Given the description of an element on the screen output the (x, y) to click on. 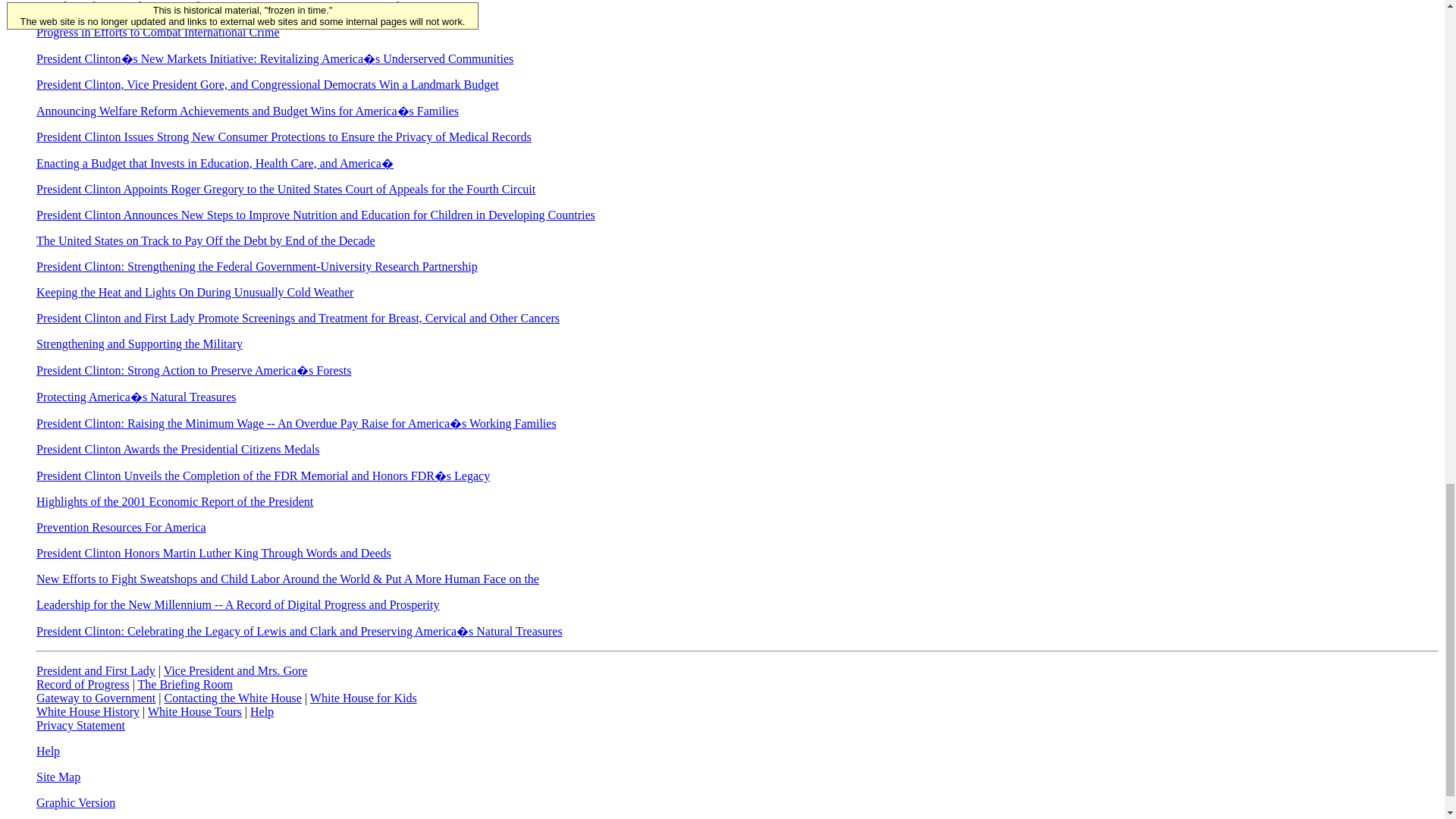
President Clinton Awards the Presidential Citizens Medals (178, 449)
Progress in Efforts to Combat International Crime (157, 31)
Keeping the Heat and Lights On During Unusually Cold Weather (194, 291)
Strengthening and Supporting the Military (139, 343)
